Given the description of an element on the screen output the (x, y) to click on. 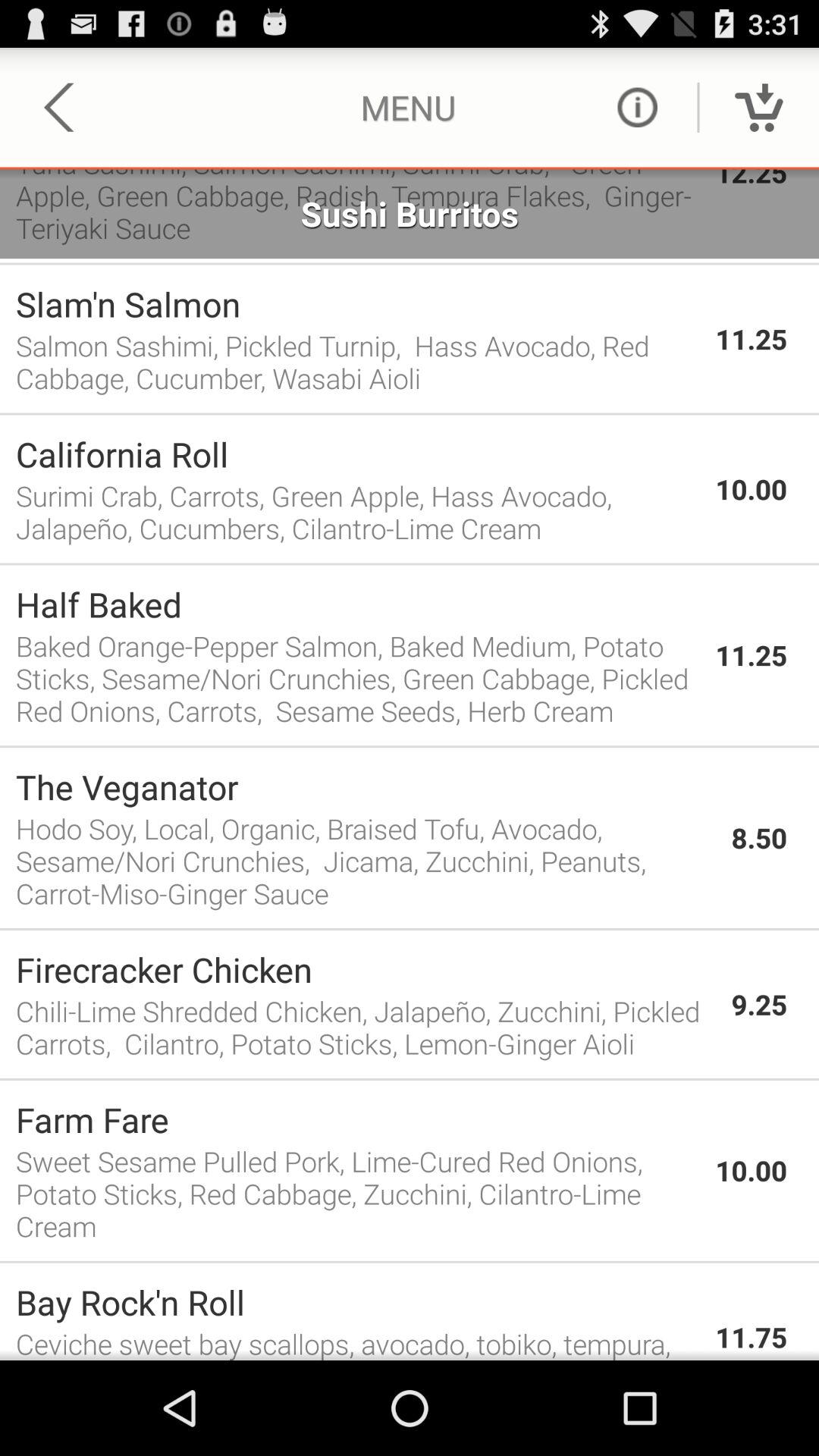
launch app above the the veganator item (409, 746)
